Given the description of an element on the screen output the (x, y) to click on. 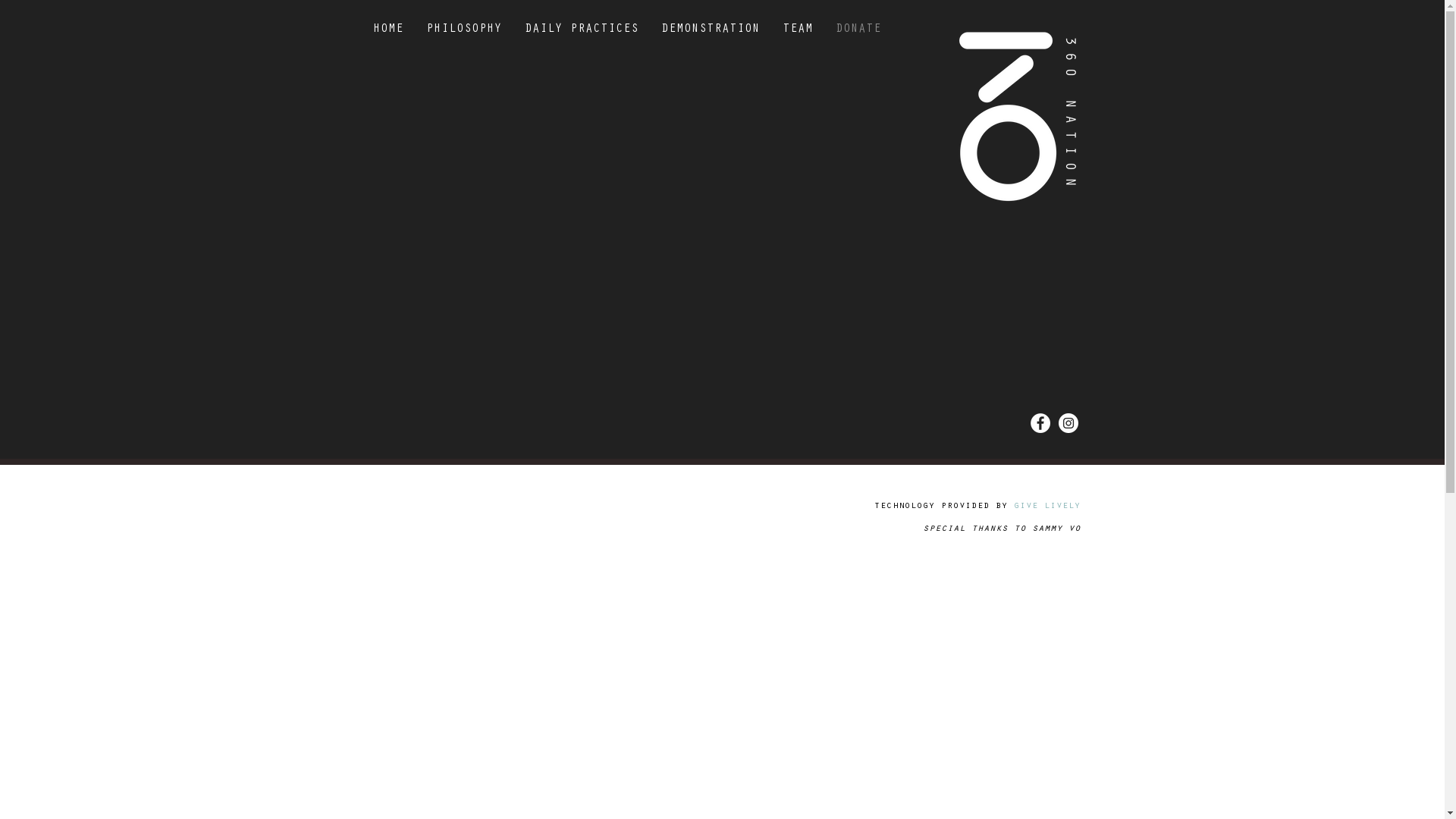
PHILOSOPHY Element type: text (463, 40)
DONATE Element type: text (857, 40)
HOME Element type: text (387, 40)
TEAM Element type: text (796, 40)
give lively Element type: text (1046, 506)
DAILY PRACTICES Element type: text (580, 40)
